Given the description of an element on the screen output the (x, y) to click on. 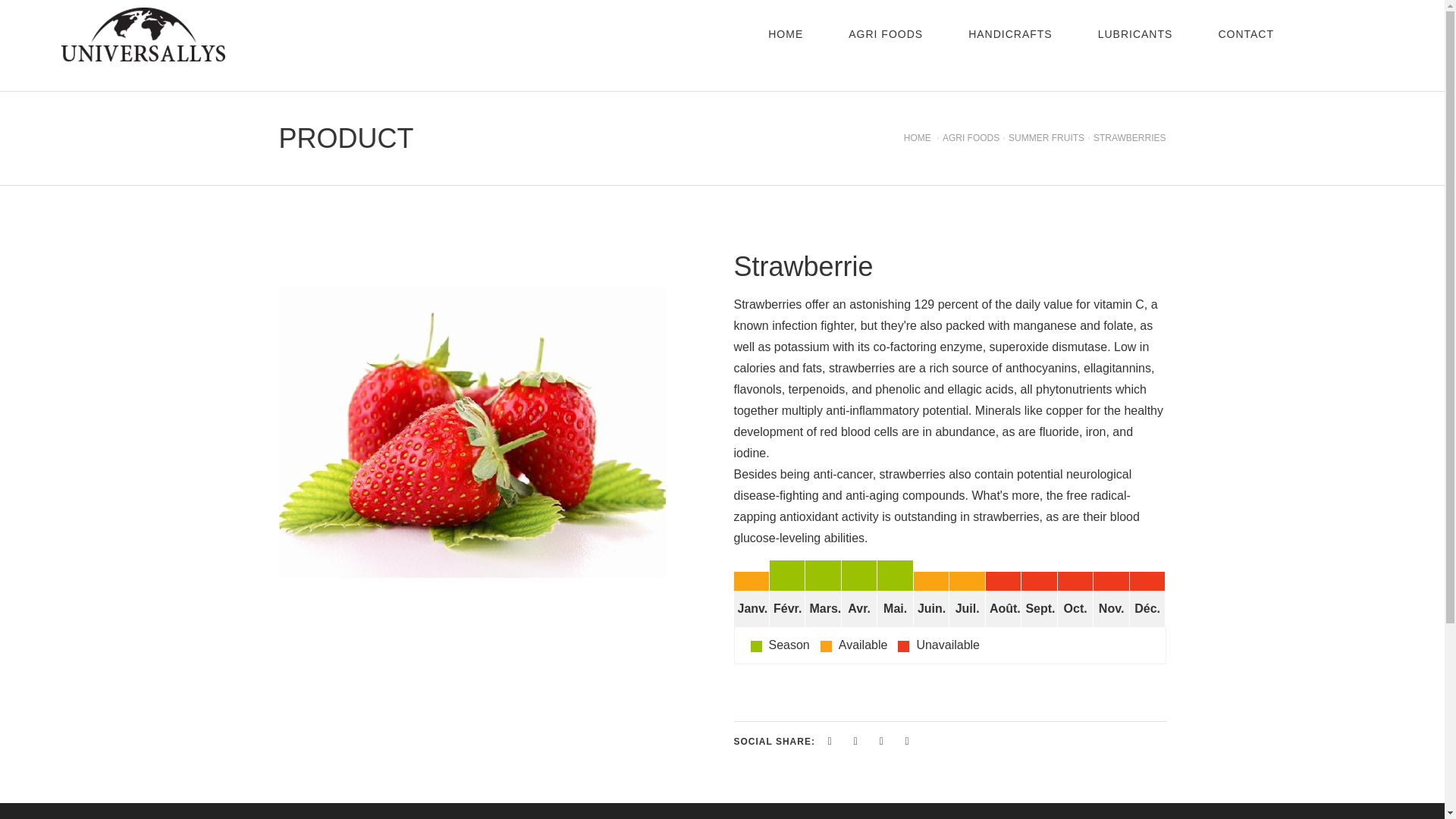
Home : Universallys (917, 137)
HANDICRAFTS (1010, 33)
Strawberrie (472, 431)
AGRI FOODS (970, 137)
CONTACT (1246, 33)
HOME (785, 33)
HOME (917, 137)
Share this post via Email (906, 740)
AGRI FOODS : Universallys (885, 33)
